Given the description of an element on the screen output the (x, y) to click on. 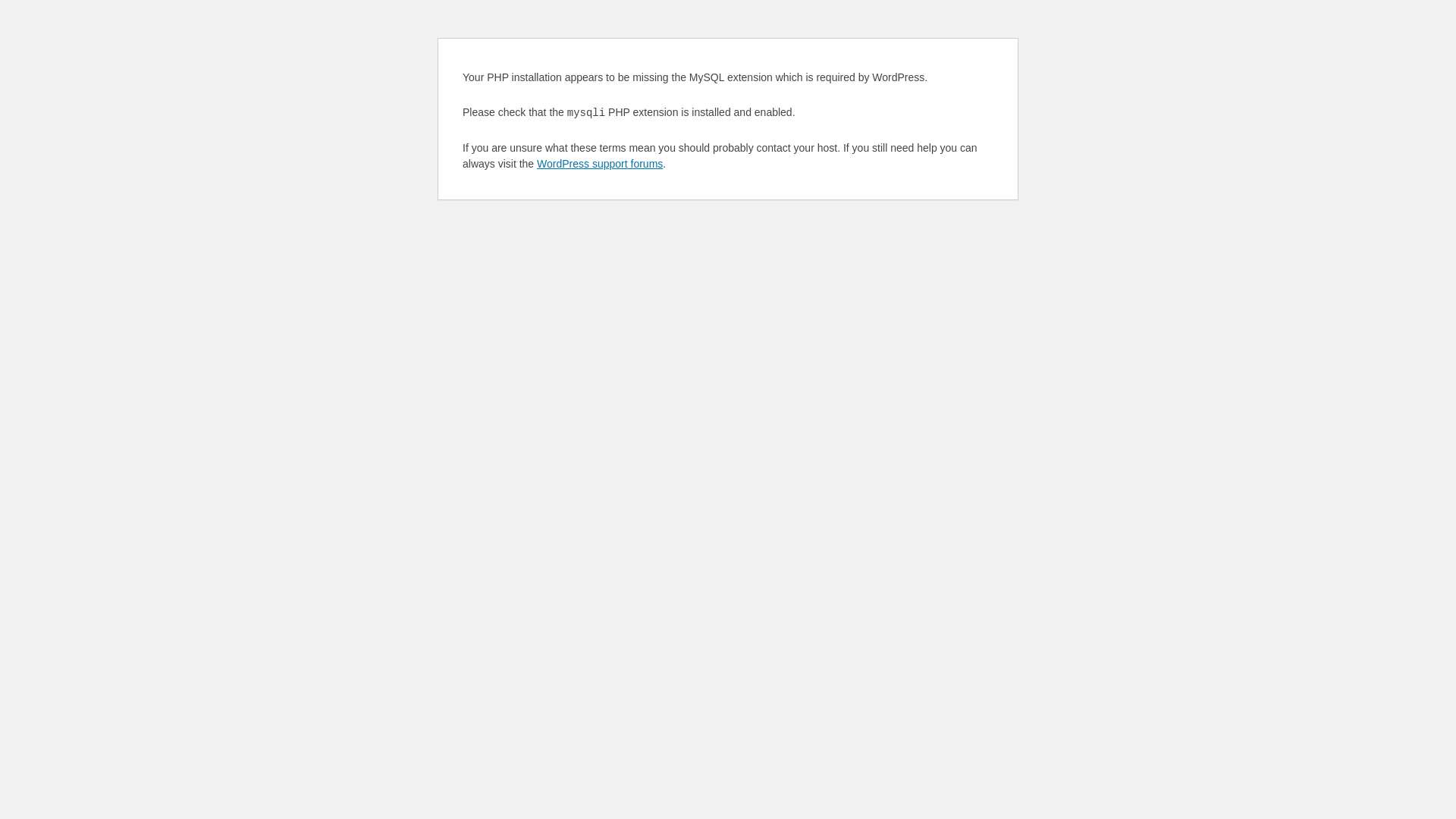
WordPress support forums Element type: text (599, 163)
